Given the description of an element on the screen output the (x, y) to click on. 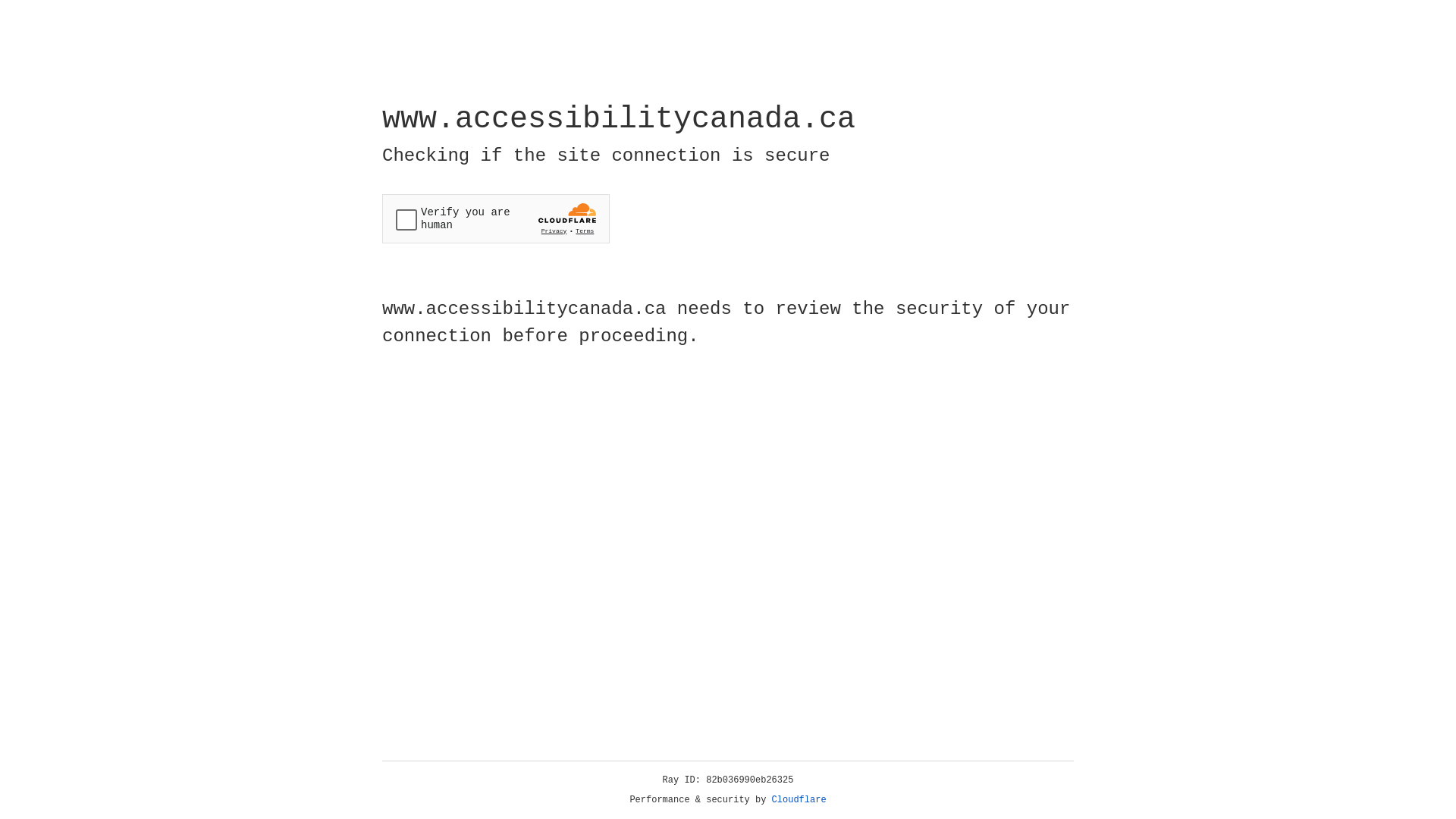
Widget containing a Cloudflare security challenge Element type: hover (495, 218)
Cloudflare Element type: text (798, 799)
